Given the description of an element on the screen output the (x, y) to click on. 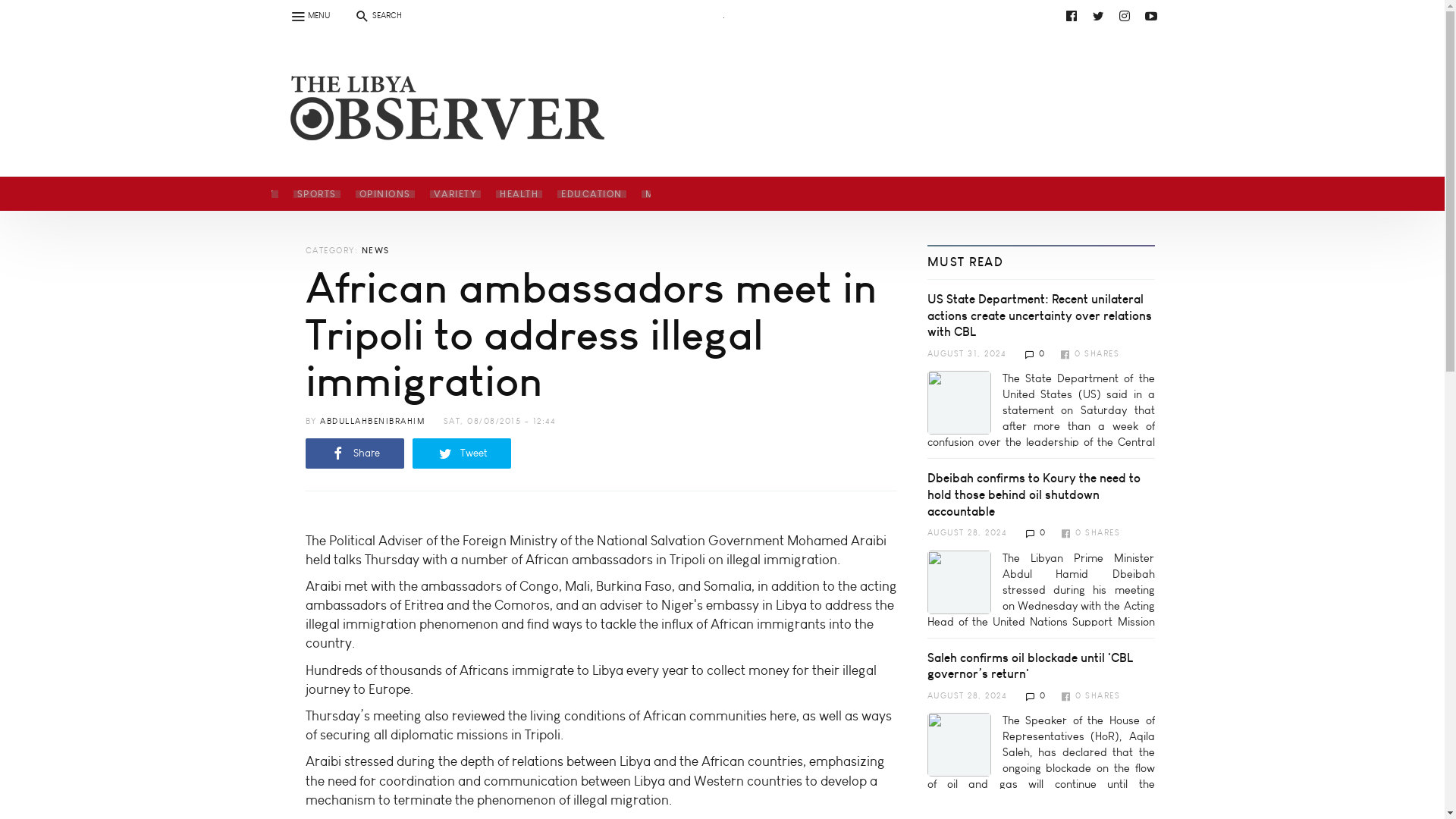
VARIETY (454, 193)
Search (20, 9)
Facebook (1070, 14)
youtube (736, 14)
youtube (1150, 14)
youtube (449, 52)
View user profile. (372, 420)
instagram (1123, 14)
MENU (309, 15)
